Given the description of an element on the screen output the (x, y) to click on. 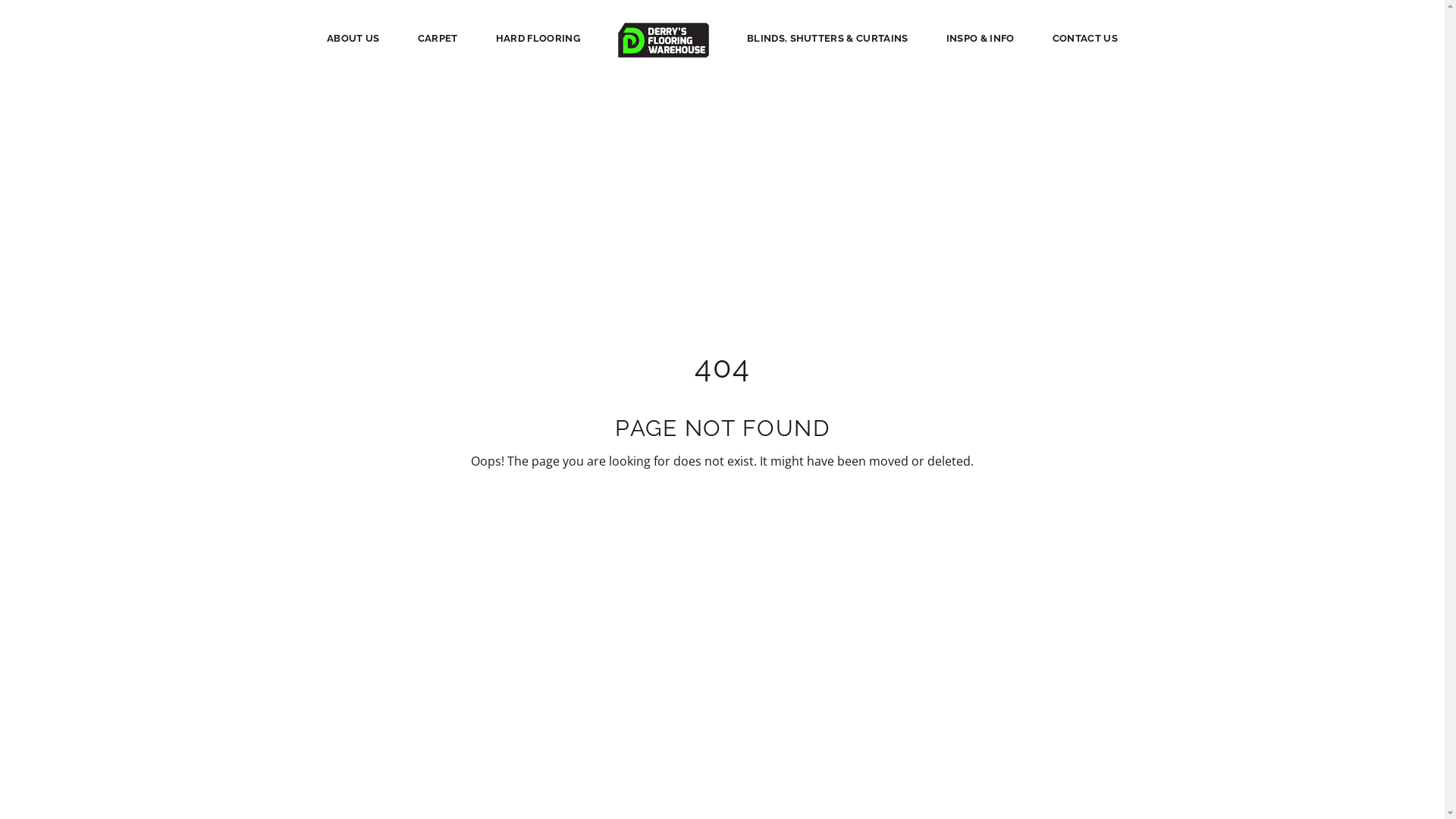
CARPET Element type: text (437, 37)
ABOUT US Element type: text (352, 37)
HARD FLOORING Element type: text (537, 37)
BLINDS, SHUTTERS & CURTAINS Element type: text (827, 37)
CONTACT US Element type: text (1084, 37)
INSPO & INFO Element type: text (980, 37)
